Given the description of an element on the screen output the (x, y) to click on. 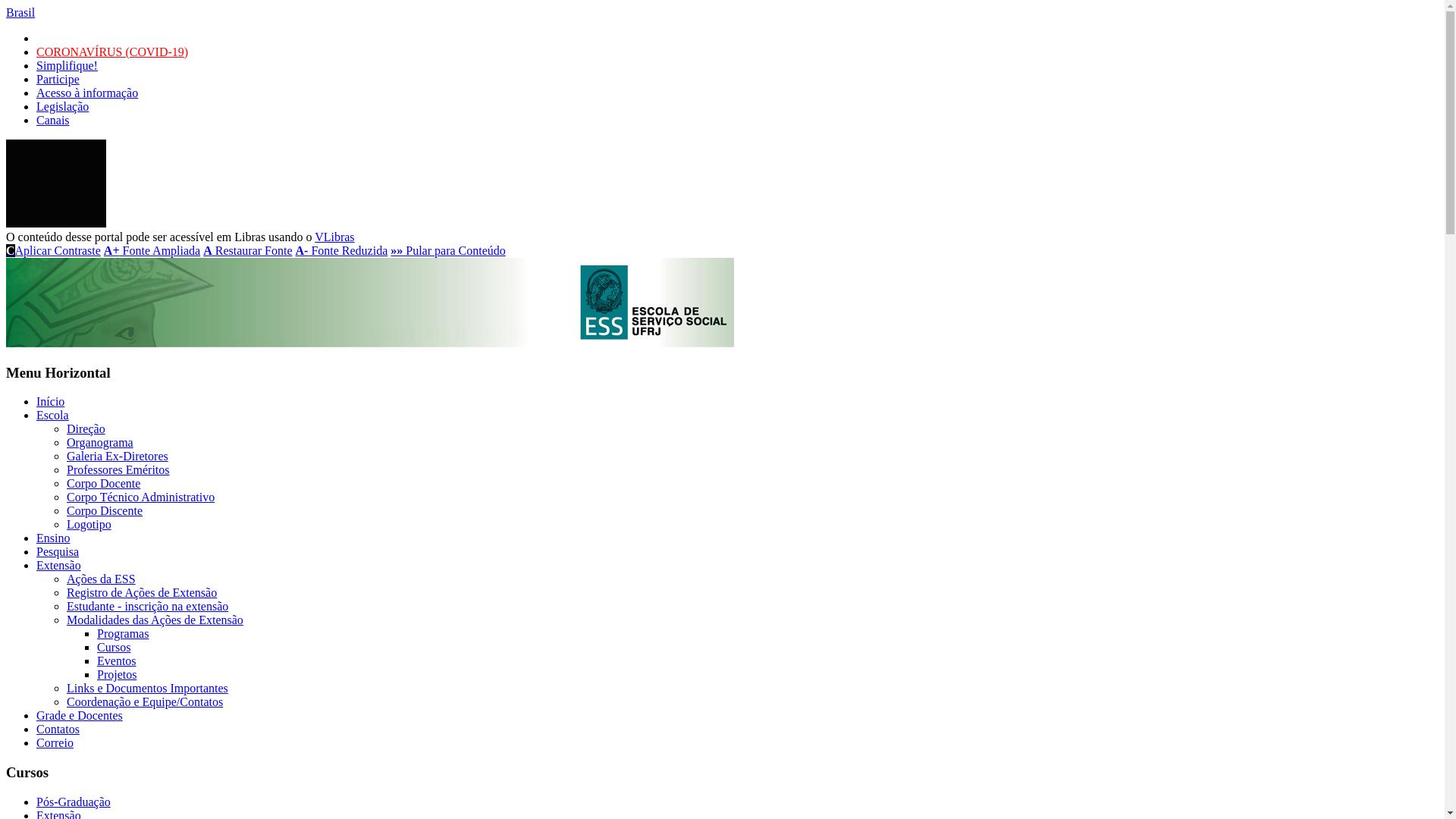
A Restaurar Fonte Element type: text (247, 250)
Corpo Discente Element type: text (104, 510)
Participe Element type: text (57, 78)
Pesquisa Element type: text (57, 551)
Brasil Element type: text (20, 12)
Galeria Ex-Diretores Element type: text (117, 455)
CAplicar Contraste Element type: text (53, 250)
Logotipo Element type: text (88, 523)
Simplifique! Element type: text (66, 65)
Eventos Element type: text (116, 660)
Grade e Docentes Element type: text (79, 715)
Correio Element type: text (54, 742)
A+ Fonte Ampliada Element type: text (151, 250)
Organograma Element type: text (99, 442)
Contatos Element type: text (57, 728)
Cursos Element type: text (113, 646)
Links e Documentos Importantes Element type: text (147, 687)
Ensino Element type: text (52, 537)
Canais Element type: text (52, 119)
Programas Element type: text (122, 633)
Projetos Element type: text (116, 674)
A- Fonte Reduzida Element type: text (341, 250)
Corpo Docente Element type: text (103, 482)
Escola Element type: text (52, 414)
VLibras Element type: text (334, 236)
